Given the description of an element on the screen output the (x, y) to click on. 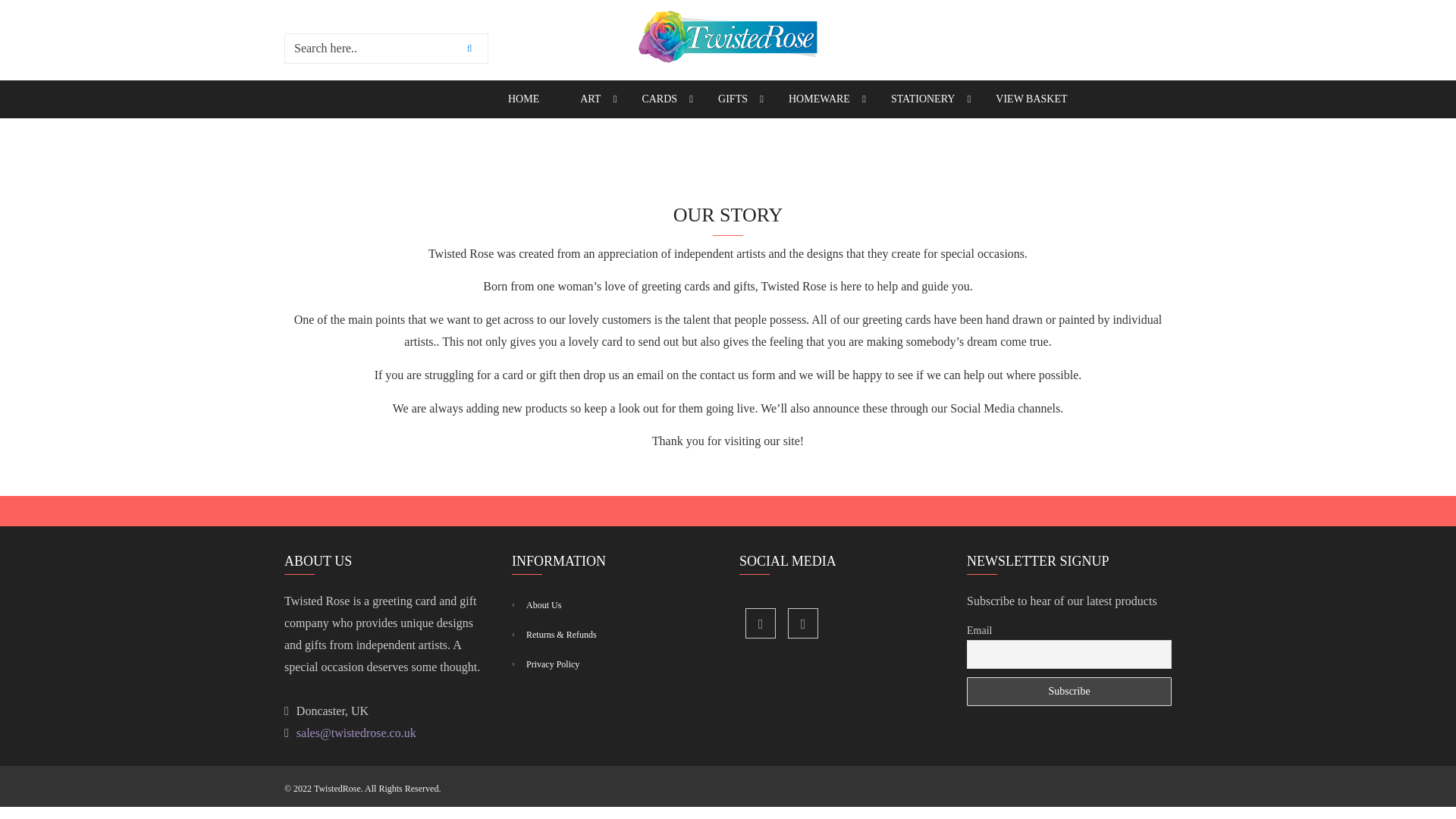
Subscribe (1069, 691)
HOME (523, 98)
STATIONERY (923, 98)
Subscribe (1069, 691)
About Us (620, 605)
GIFTS (732, 98)
CARDS (659, 98)
VIEW BASKET (1031, 98)
ART (590, 98)
HOMEWARE (819, 98)
